Given the description of an element on the screen output the (x, y) to click on. 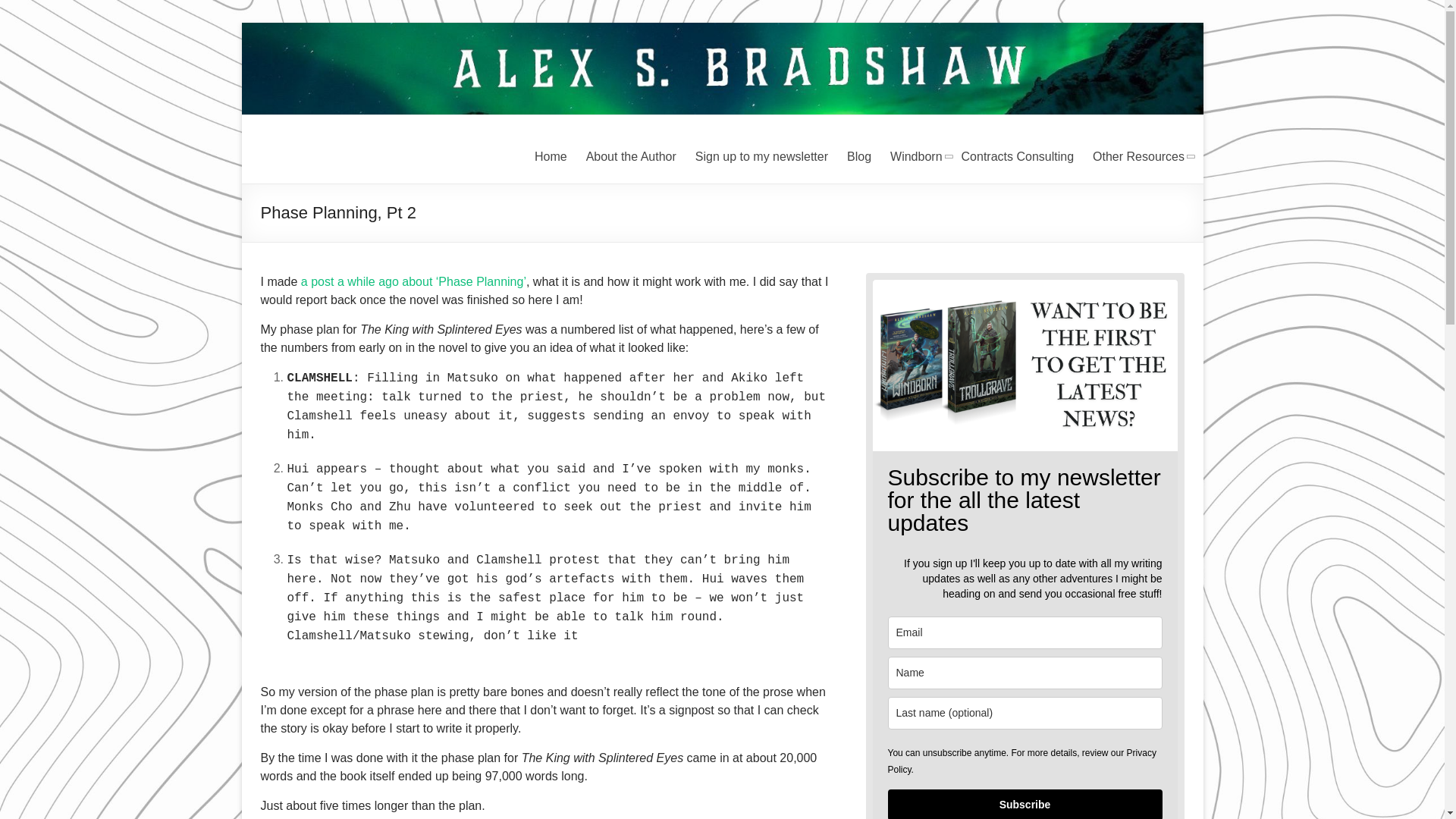
Sign up to my newsletter (760, 156)
Subscribe (1023, 804)
Alex S. Bradshaw (319, 175)
Windborn (915, 156)
Alex S. Bradshaw (721, 29)
Other Resources (1139, 156)
Contracts Consulting (1017, 156)
Blog (858, 156)
About the Author (630, 156)
Alex S. Bradshaw (319, 175)
Home (550, 156)
